Given the description of an element on the screen output the (x, y) to click on. 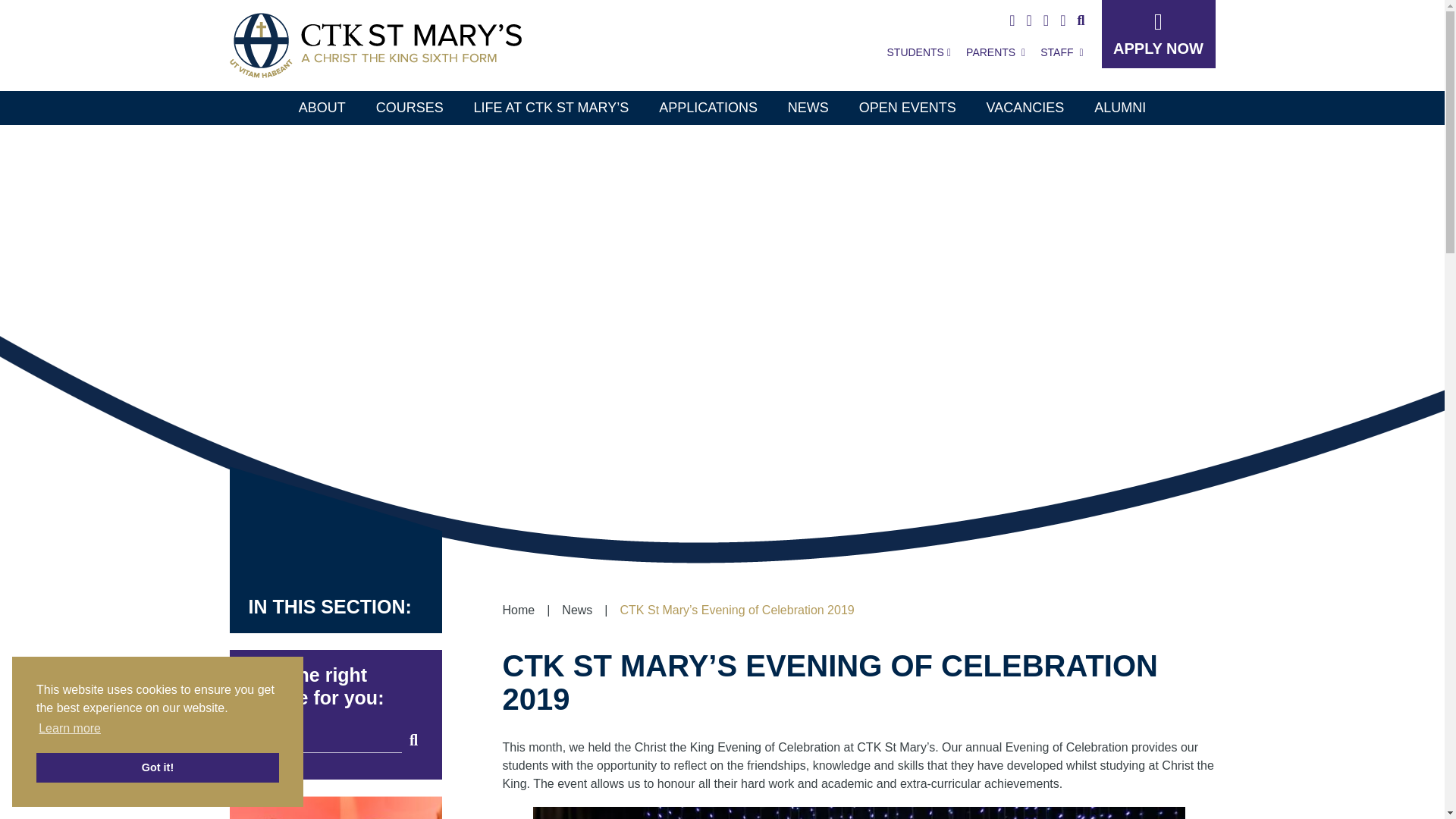
Got it! (157, 767)
Learn more (69, 728)
APPLY NOW (1157, 33)
